Given the description of an element on the screen output the (x, y) to click on. 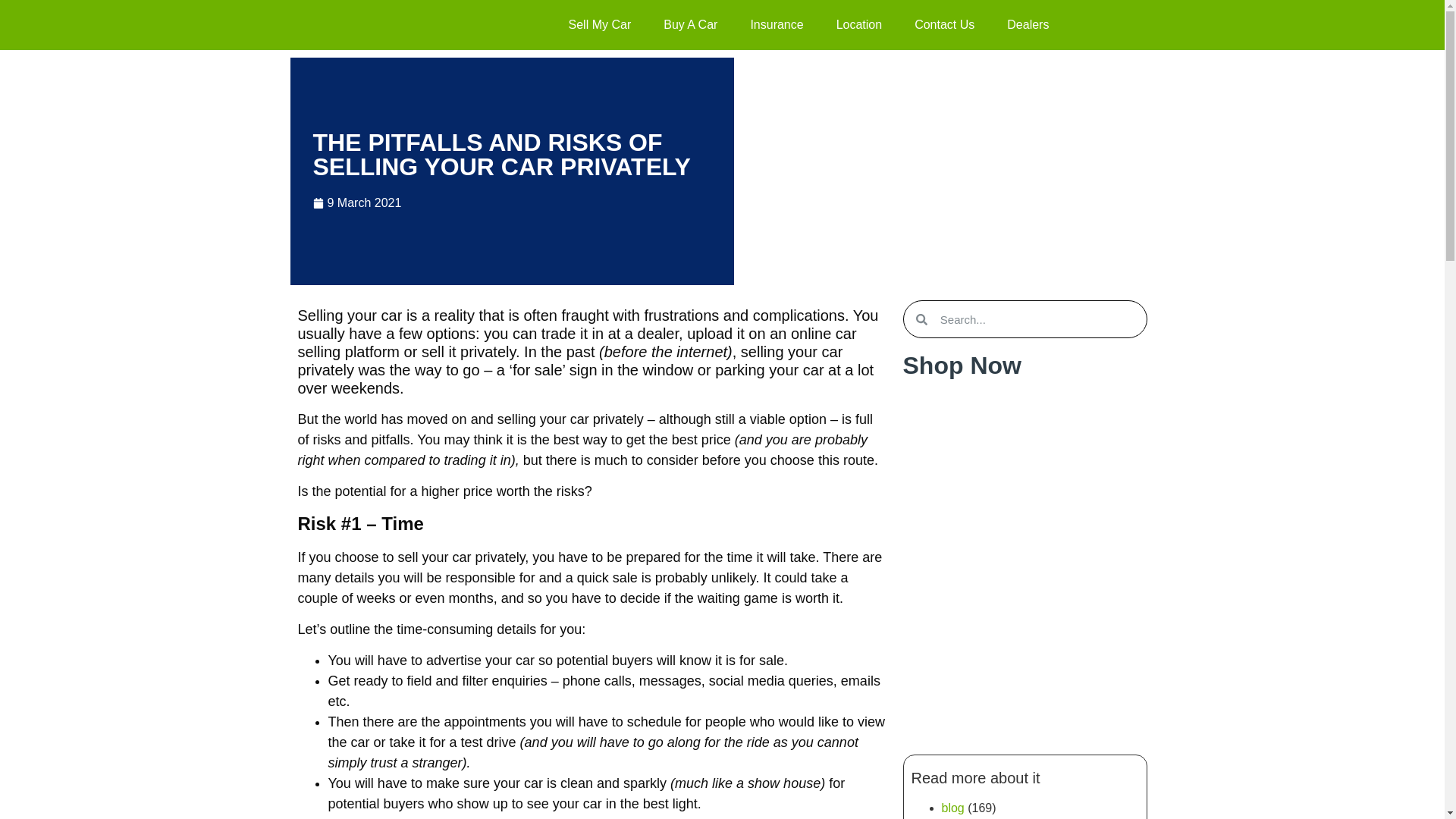
9 March 2021 (357, 203)
Contact Us (944, 24)
Buy A Car (689, 24)
Insurance (776, 24)
Location (859, 24)
Sell My Car (599, 24)
blog (952, 807)
Dealers (1027, 24)
